Given the description of an element on the screen output the (x, y) to click on. 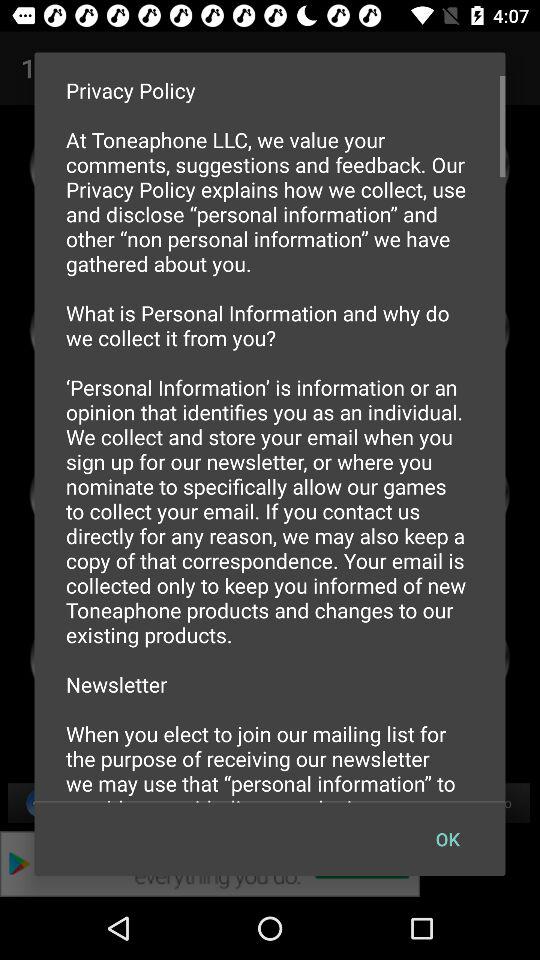
tap item at the bottom right corner (447, 838)
